Given the description of an element on the screen output the (x, y) to click on. 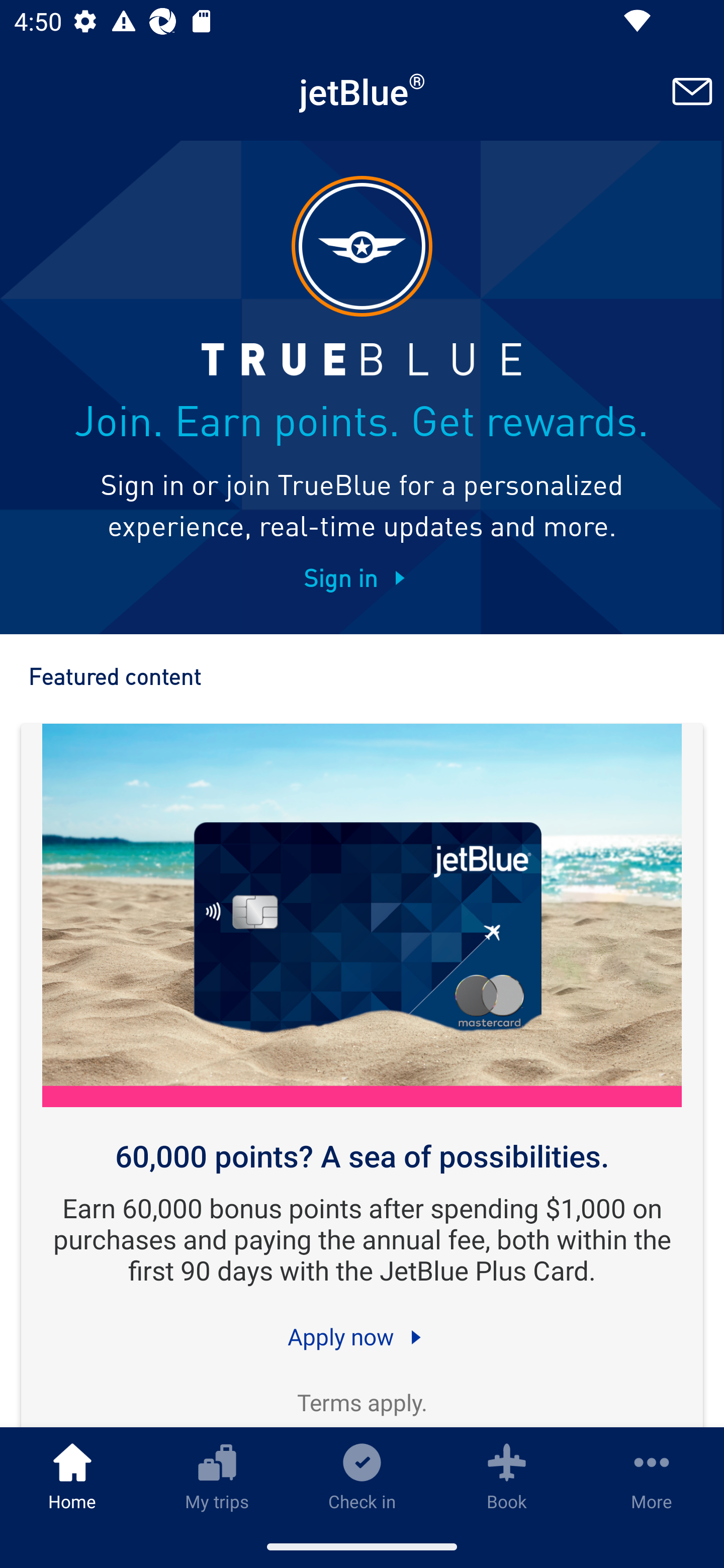
Apply now (361, 1336)
My trips (216, 1475)
Check in (361, 1475)
Book (506, 1475)
More (651, 1475)
